Given the description of an element on the screen output the (x, y) to click on. 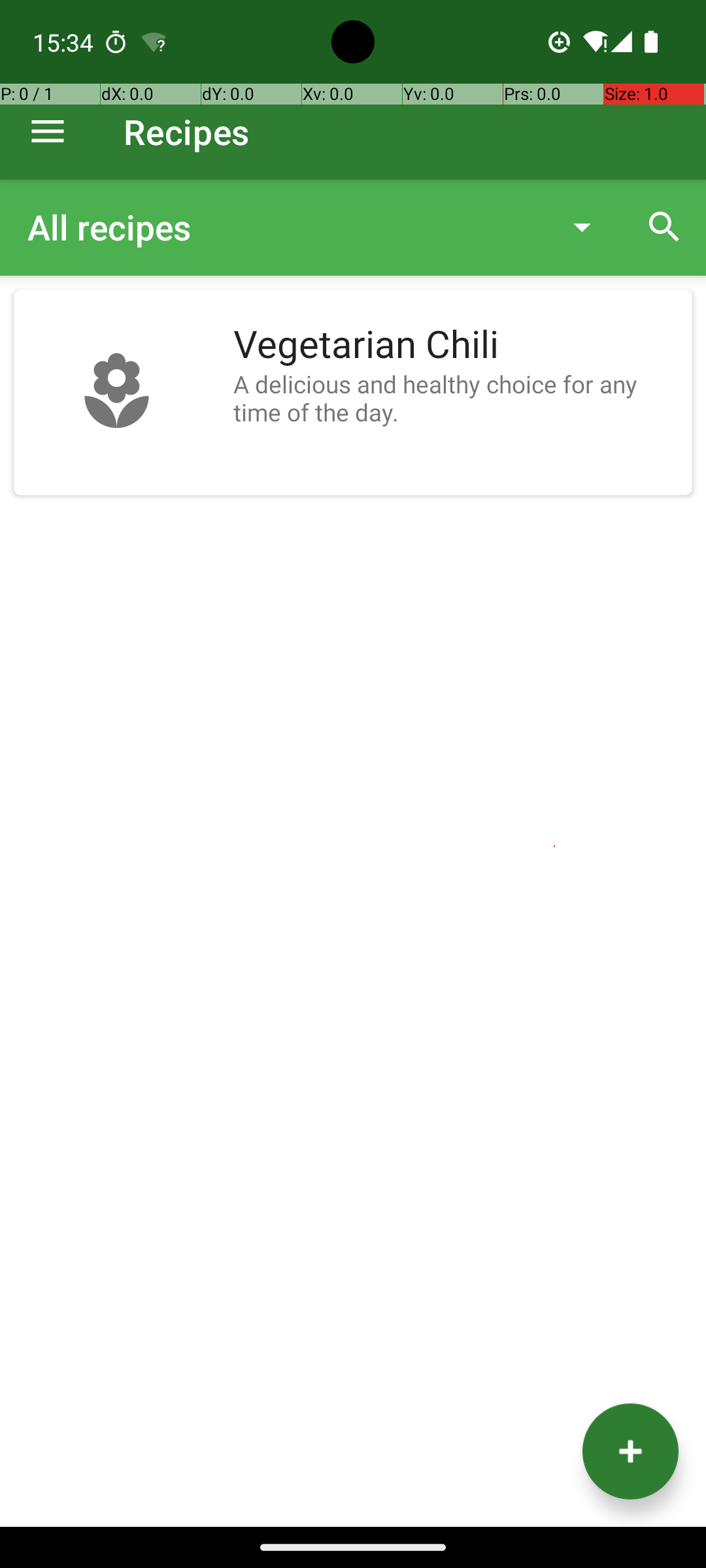
Vegetarian Chili Element type: android.widget.TextView (455, 344)
